Given the description of an element on the screen output the (x, y) to click on. 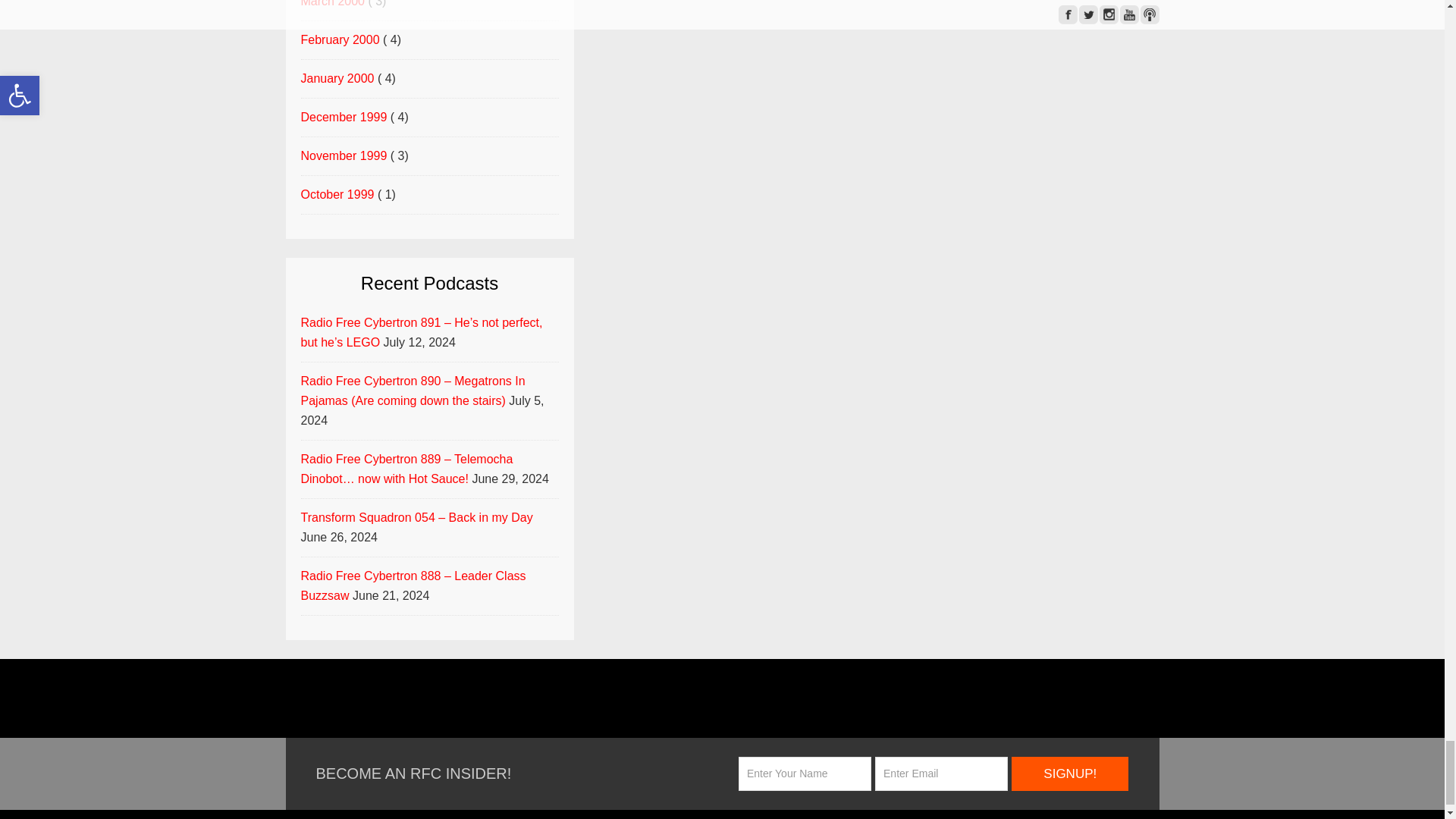
Signup! (1069, 773)
Enter Email (941, 773)
Enter Your Name (804, 773)
